Given the description of an element on the screen output the (x, y) to click on. 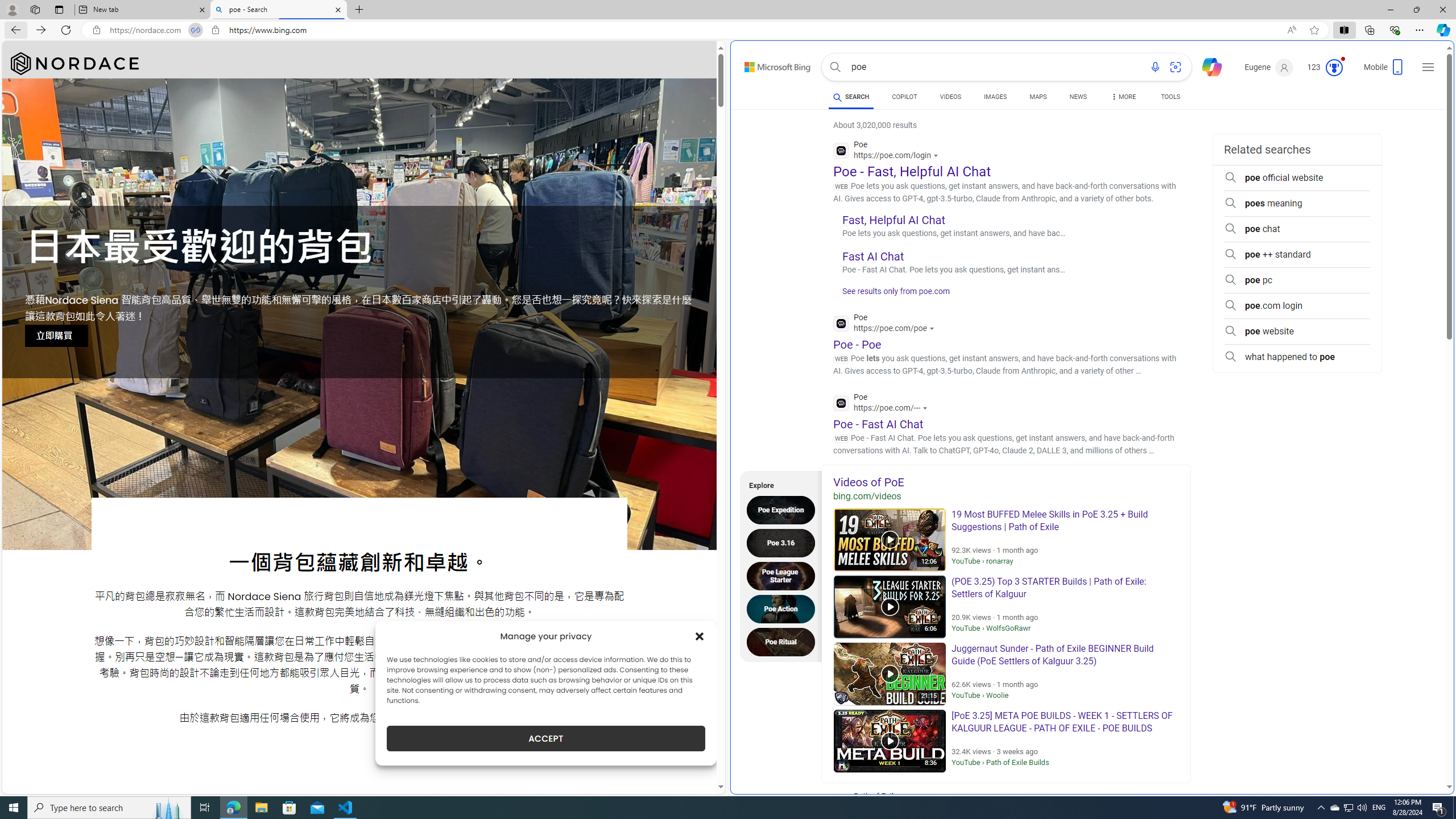
Poe Expedition (783, 509)
SEARCH (850, 96)
Search using voice (1154, 66)
Search more (1423, 753)
Videos of PoE (1005, 481)
VIDEOS (950, 96)
Poe - Fast AI Chat (877, 423)
ACCEPT (545, 738)
